Given the description of an element on the screen output the (x, y) to click on. 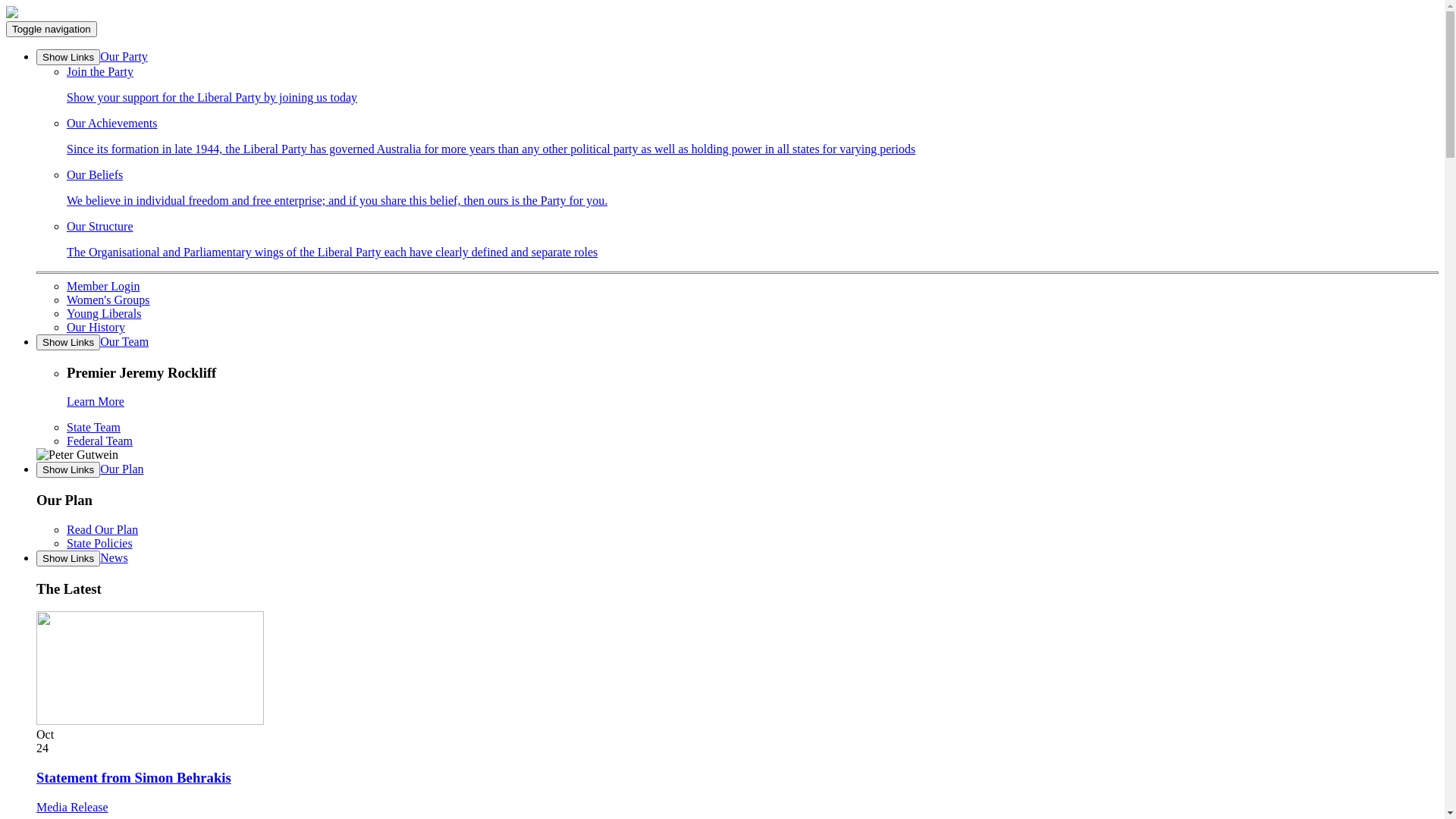
Our Party Element type: text (123, 56)
Read Our Plan Element type: text (102, 529)
Young Liberals Element type: text (103, 313)
State Team Element type: text (93, 426)
Federal Team Element type: text (99, 440)
Learn More Element type: text (95, 401)
Member Login Element type: text (102, 285)
State Policies Element type: text (99, 542)
Show Links Element type: text (68, 558)
Statement from Simon Behrakis Element type: text (133, 777)
Show Links Element type: text (68, 342)
Our Team Element type: text (124, 341)
Media Release Element type: text (72, 806)
Our History Element type: text (95, 326)
Show Links Element type: text (68, 57)
Show Links Element type: text (68, 469)
News Element type: text (113, 557)
Toggle navigation Element type: text (51, 29)
Women's Groups Element type: text (108, 299)
Our Plan Element type: text (121, 468)
